Given the description of an element on the screen output the (x, y) to click on. 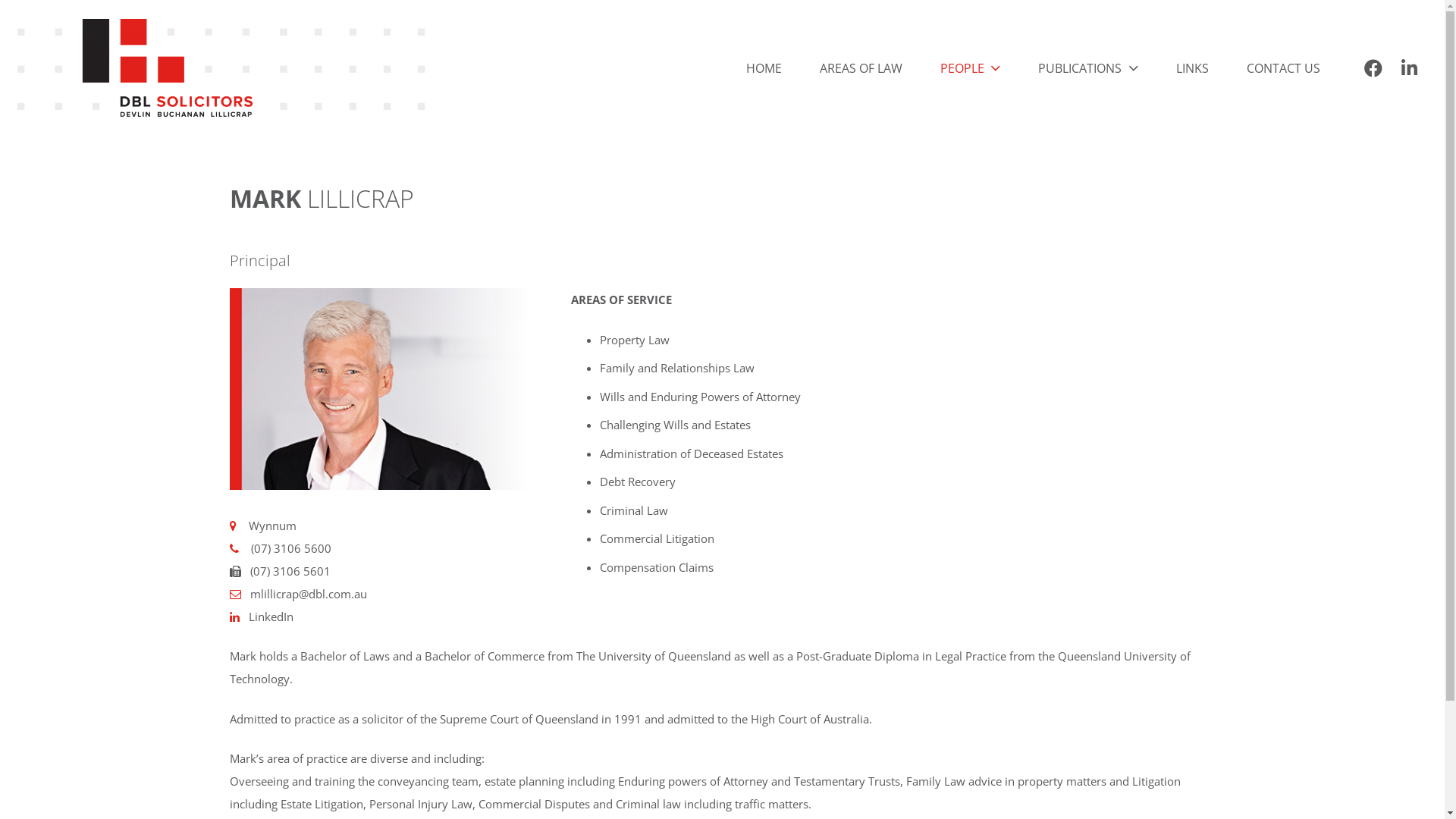
AREAS OF LAW Element type: text (860, 68)
LinkedIn Element type: text (270, 616)
PUBLICATIONS Element type: text (1087, 68)
Wynnum Element type: text (272, 525)
(07) 3106 5600 Element type: text (290, 547)
HOME Element type: text (763, 68)
LINKS Element type: text (1192, 68)
Facebook Element type: hover (1372, 68)
mlillicrap@dbl.com.au Element type: text (308, 593)
PEOPLE Element type: text (970, 68)
LinkedIn Element type: hover (1408, 68)
CONTACT US Element type: text (1282, 68)
